Given the description of an element on the screen output the (x, y) to click on. 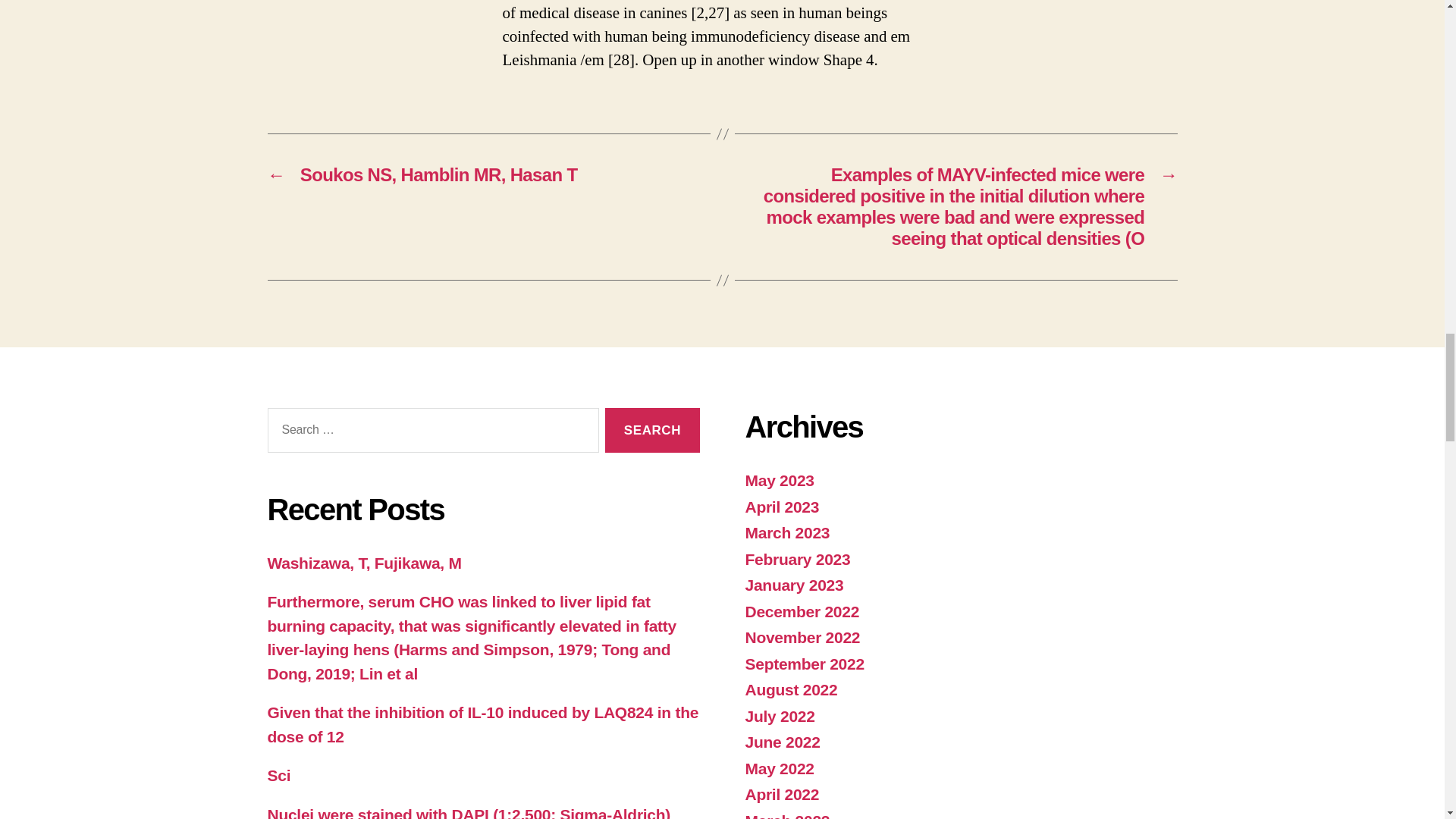
June 2022 (781, 742)
February 2023 (797, 559)
March 2022 (786, 815)
May 2023 (778, 479)
January 2023 (793, 584)
May 2022 (778, 768)
Washizawa, T, Fujikawa, M (363, 562)
July 2022 (778, 715)
Search (651, 429)
December 2022 (801, 610)
